Given the description of an element on the screen output the (x, y) to click on. 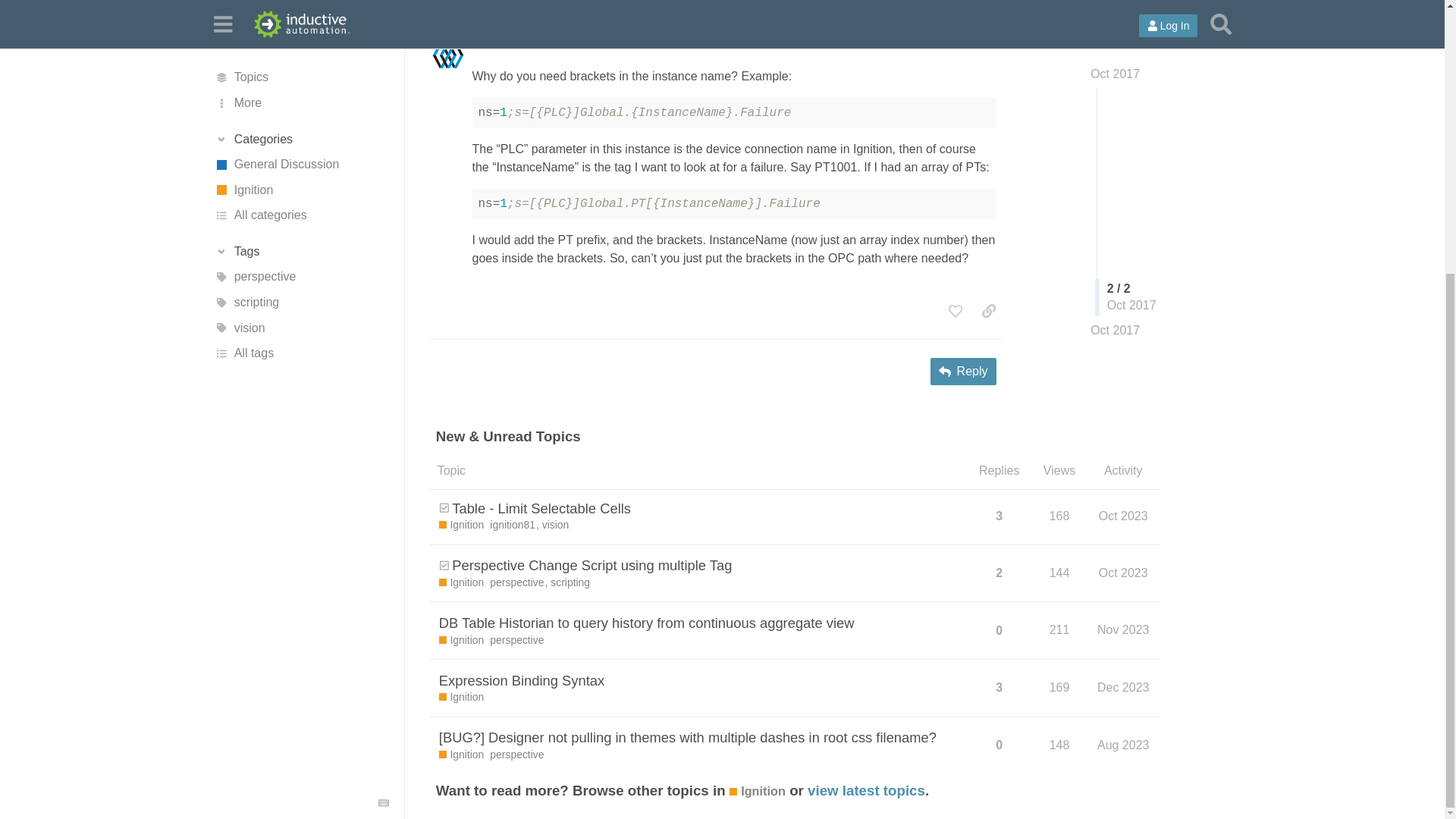
Keyboard Shortcuts (384, 401)
Paullys50 (499, 43)
Oct 2017 (970, 42)
